Given the description of an element on the screen output the (x, y) to click on. 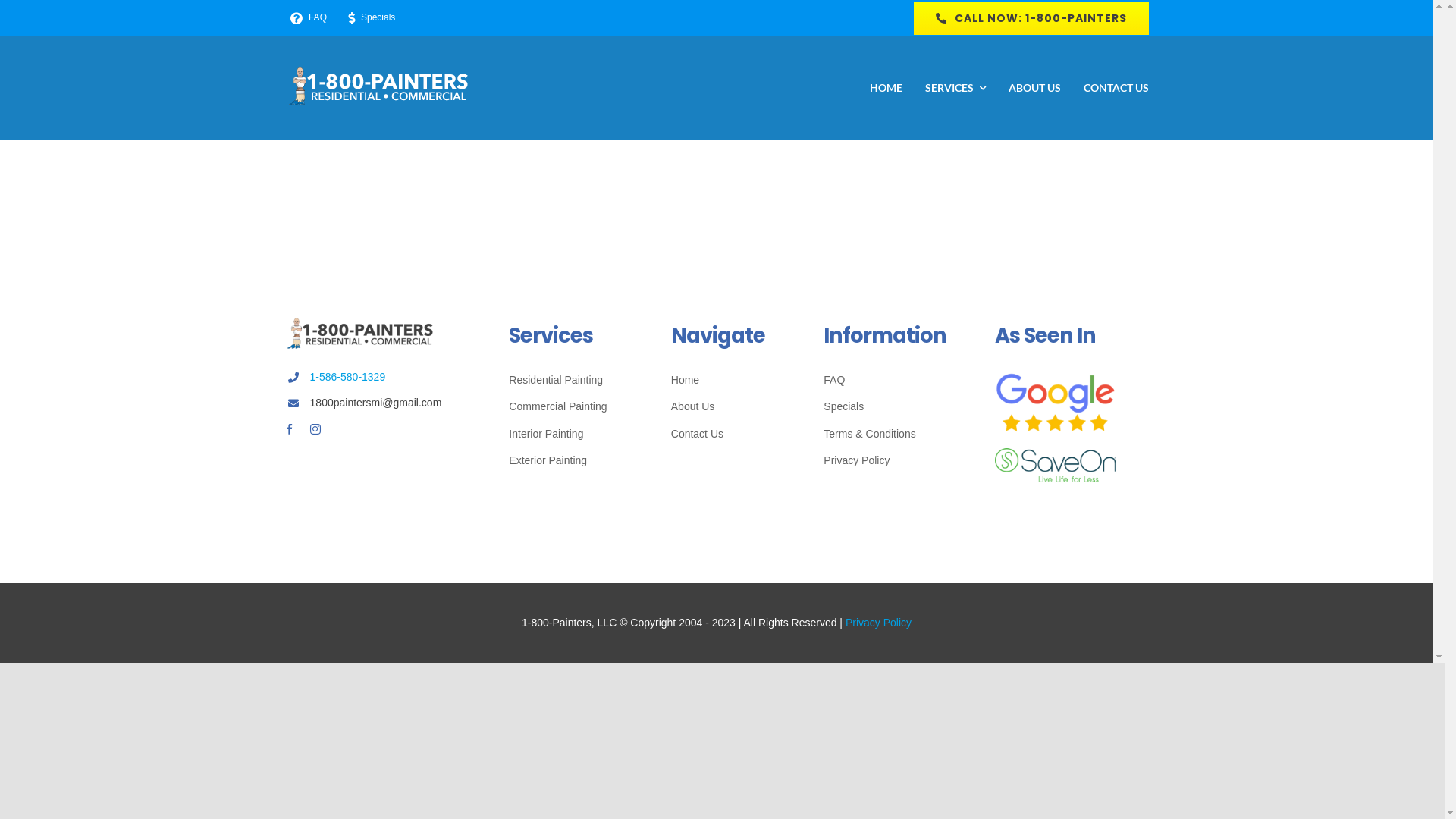
footer-logo Element type: hover (360, 332)
Privacy Policy Element type: text (891, 460)
Residential Painting Element type: text (572, 379)
FAQ Element type: text (305, 18)
Commercial Painting Element type: text (572, 406)
Exterior Painting Element type: text (572, 460)
Specials Element type: text (368, 18)
FAQ Element type: text (891, 379)
ABOUT US Element type: text (1034, 87)
About Us Element type: text (730, 406)
Privacy Policy Element type: text (878, 622)
Interior Painting Element type: text (572, 433)
Contact Us Element type: text (730, 433)
1-586-580-1329 Element type: text (347, 376)
Home Element type: text (730, 379)
HOME Element type: text (885, 87)
SERVICES Element type: text (955, 87)
Terms & Conditions Element type: text (891, 433)
CONTACT US Element type: text (1115, 87)
Specials Element type: text (891, 406)
CALL NOW: 1-800-PAINTERS Element type: text (1030, 17)
